Given the description of an element on the screen output the (x, y) to click on. 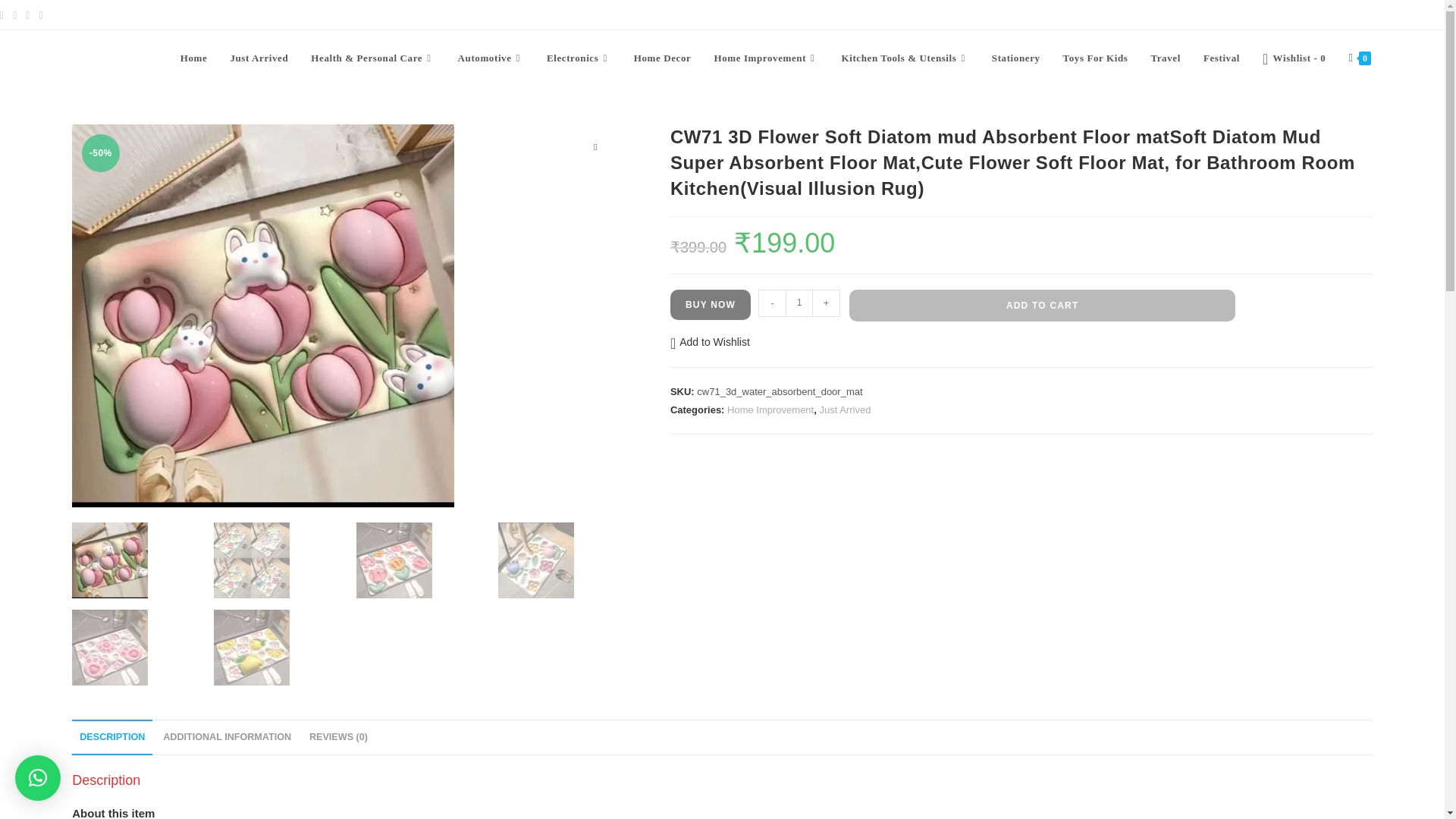
Home Decor (663, 58)
Wishlist - 0 (1293, 58)
Toys For Kids (1095, 58)
Stationery (1015, 58)
Automotive (490, 58)
Electronics (579, 58)
Shopping Cart (1345, 14)
Festival (1221, 58)
Track Your Order (1258, 14)
My Account (1177, 14)
1 (799, 302)
Just Arrived (258, 58)
Shop 100 Takaa (92, 55)
